Given the description of an element on the screen output the (x, y) to click on. 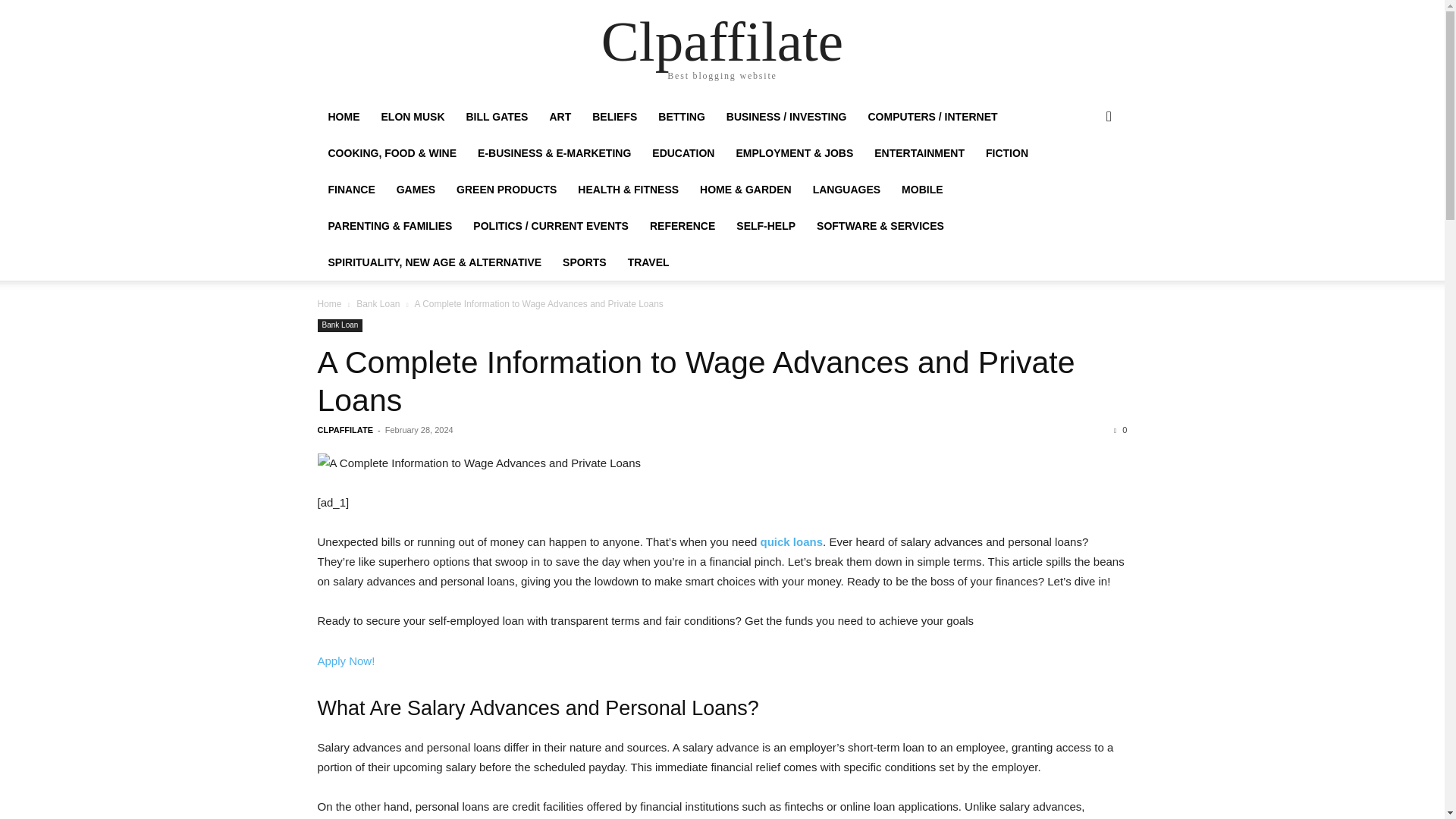
ELON MUSK (411, 116)
BELIEFS (613, 116)
A Complete Information to Wage Advances and Private Loans (695, 380)
A Complete Information to Wage Advances and Private Loans (721, 463)
BILL GATES (496, 116)
HOME (343, 116)
Clpaffilate (722, 41)
BETTING (680, 116)
View all posts in Bank Loan (377, 303)
ART (559, 116)
